Given the description of an element on the screen output the (x, y) to click on. 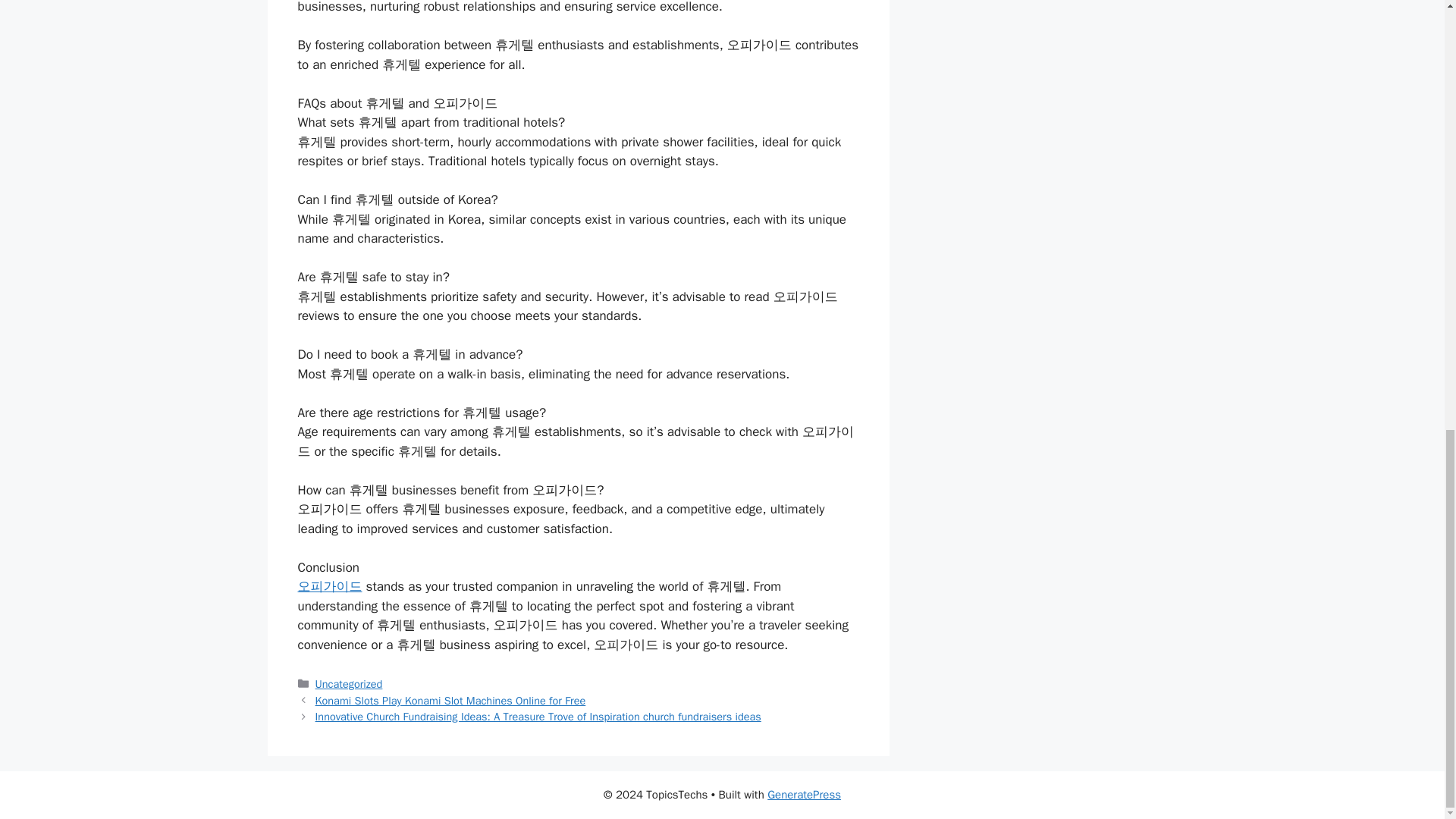
Konami Slots Play Konami Slot Machines Online for Free (450, 700)
GeneratePress (804, 794)
Uncategorized (348, 684)
